Given the description of an element on the screen output the (x, y) to click on. 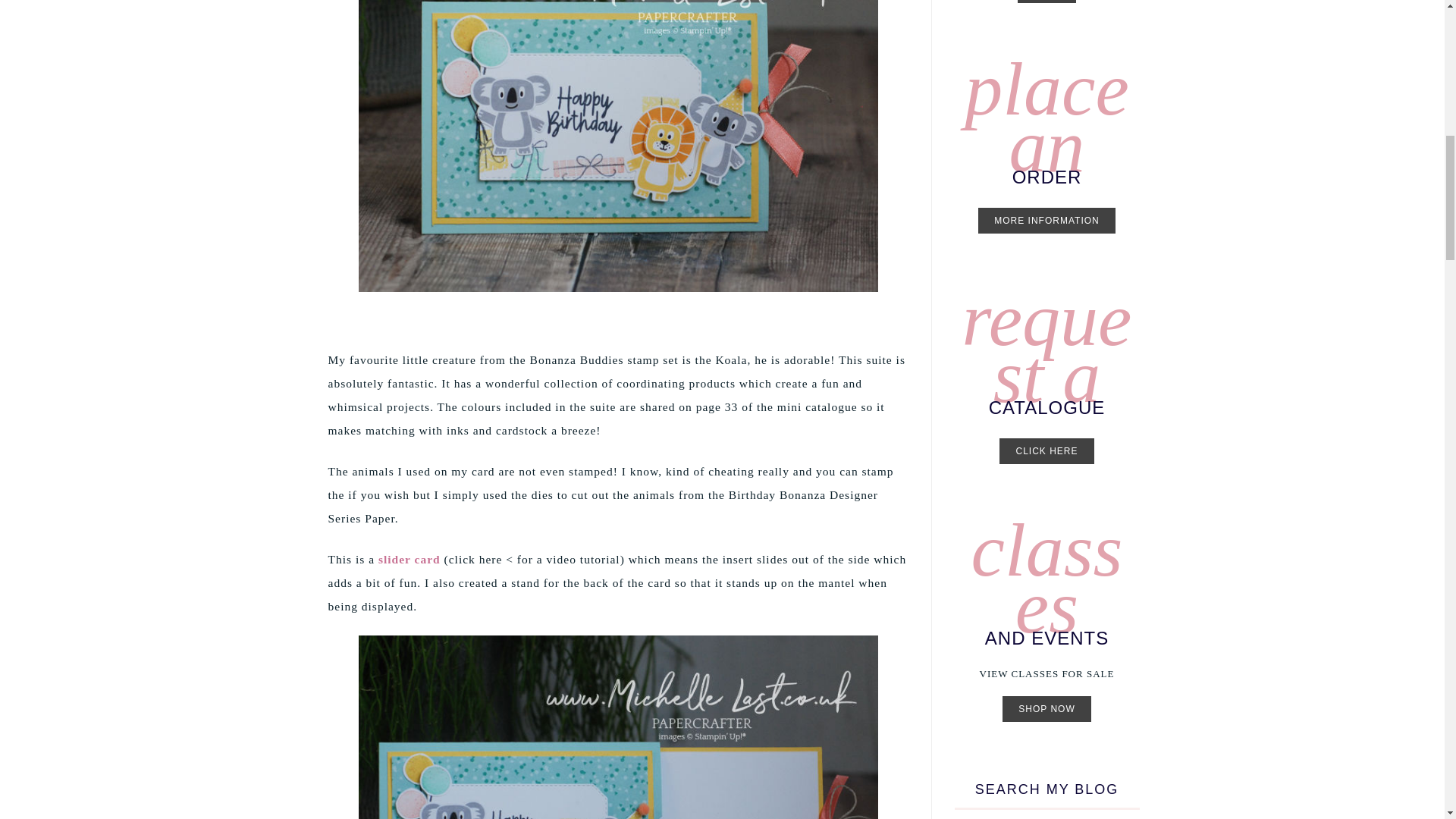
slider card (409, 558)
